Given the description of an element on the screen output the (x, y) to click on. 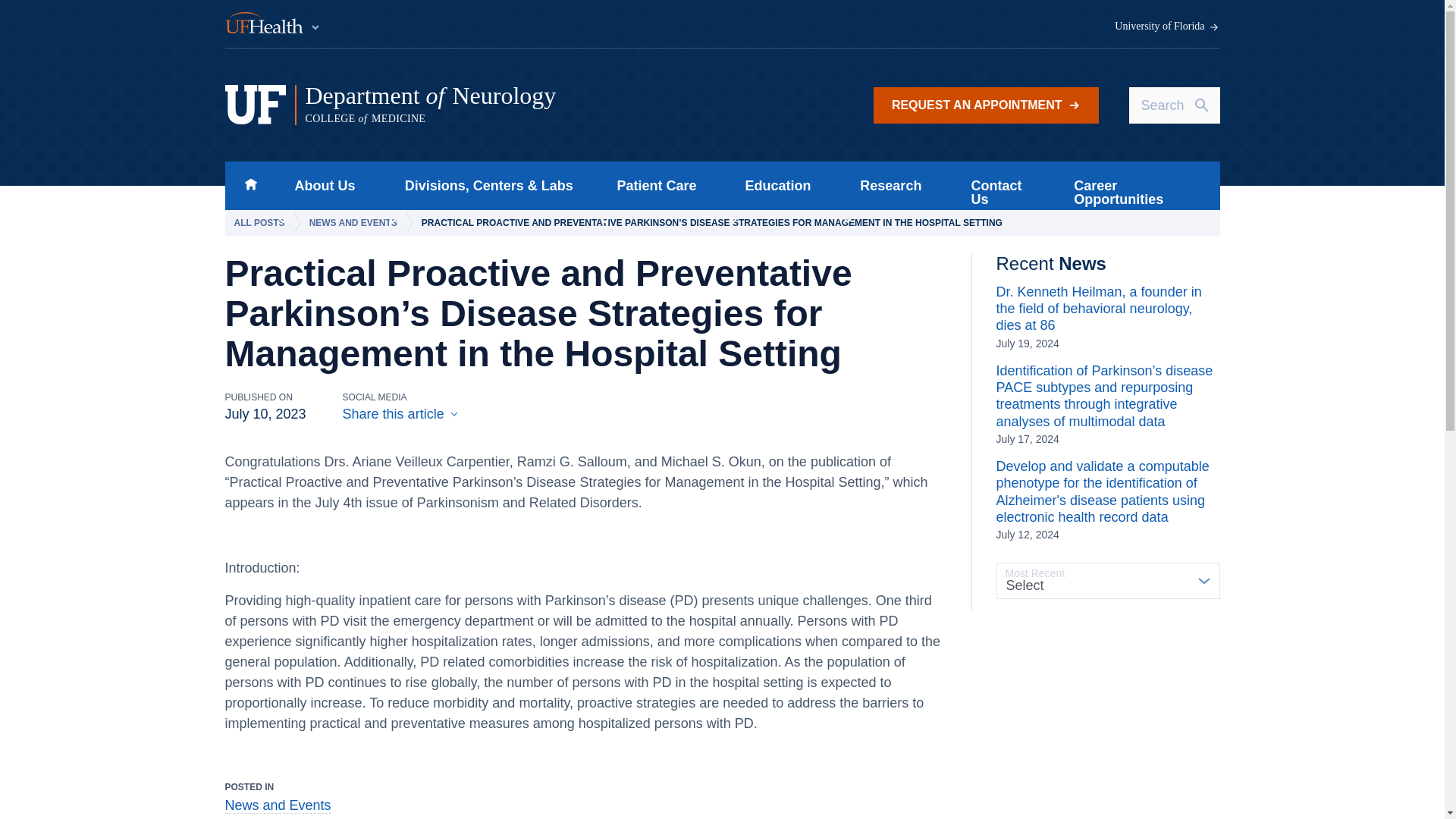
UF Health (515, 105)
REQUEST AN APPOINTMENT (272, 24)
Skip to main content (986, 104)
University of Florida (250, 185)
About Us (1167, 26)
Patient Care (320, 185)
